Given the description of an element on the screen output the (x, y) to click on. 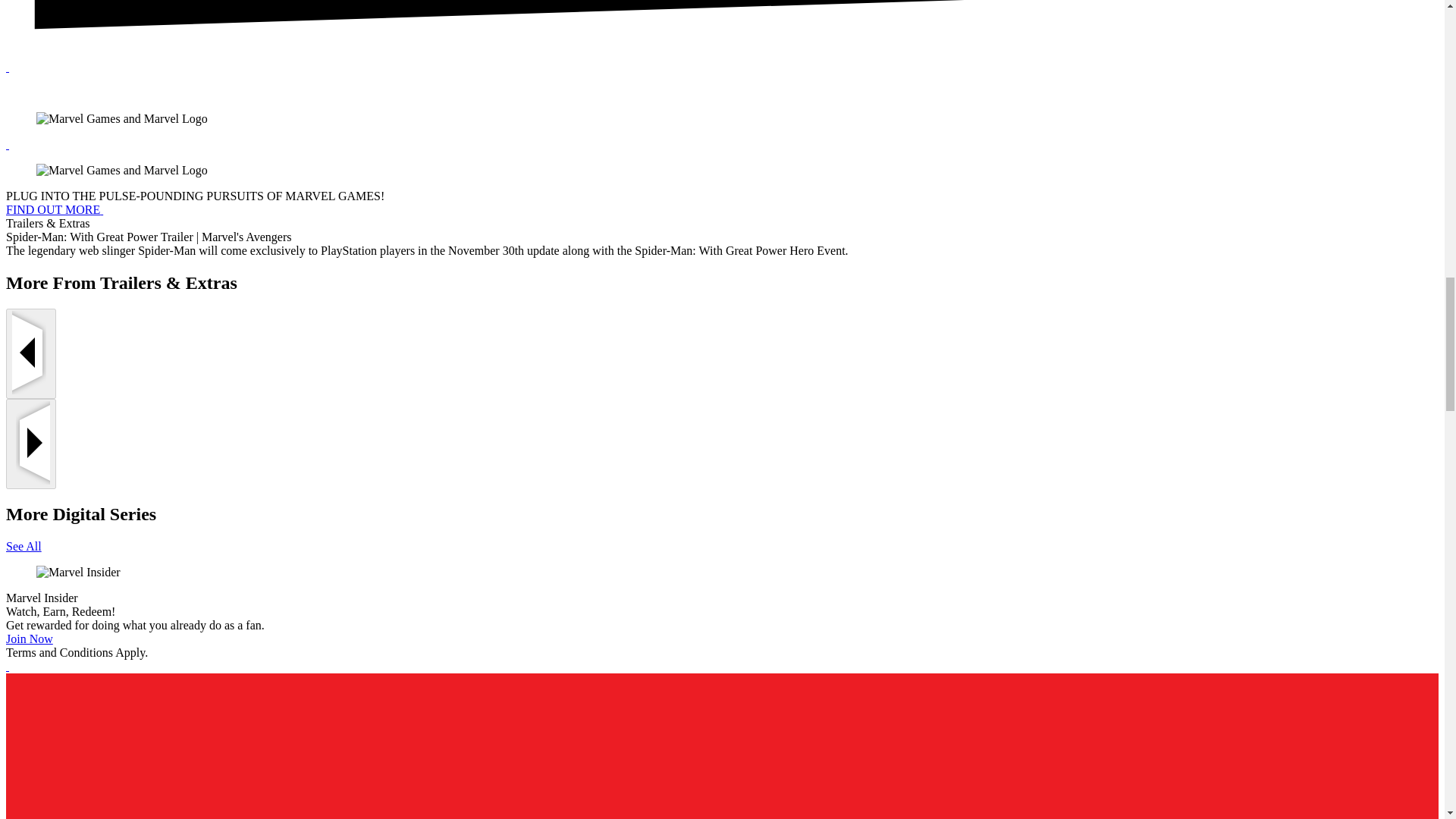
FIND OUT MORE (52, 209)
Join Now (28, 638)
See All (23, 545)
